Given the description of an element on the screen output the (x, y) to click on. 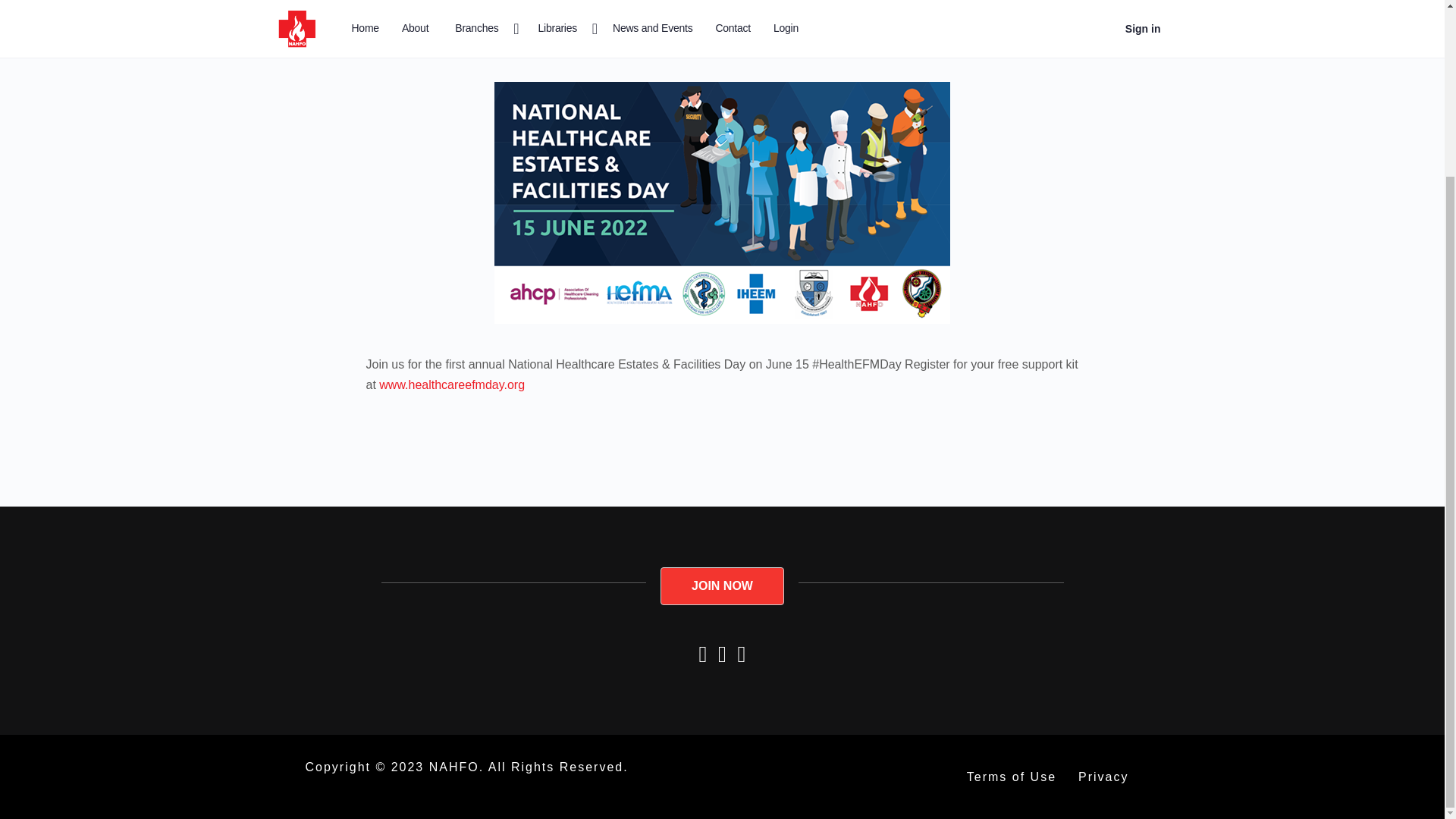
image001 (722, 202)
